Given the description of an element on the screen output the (x, y) to click on. 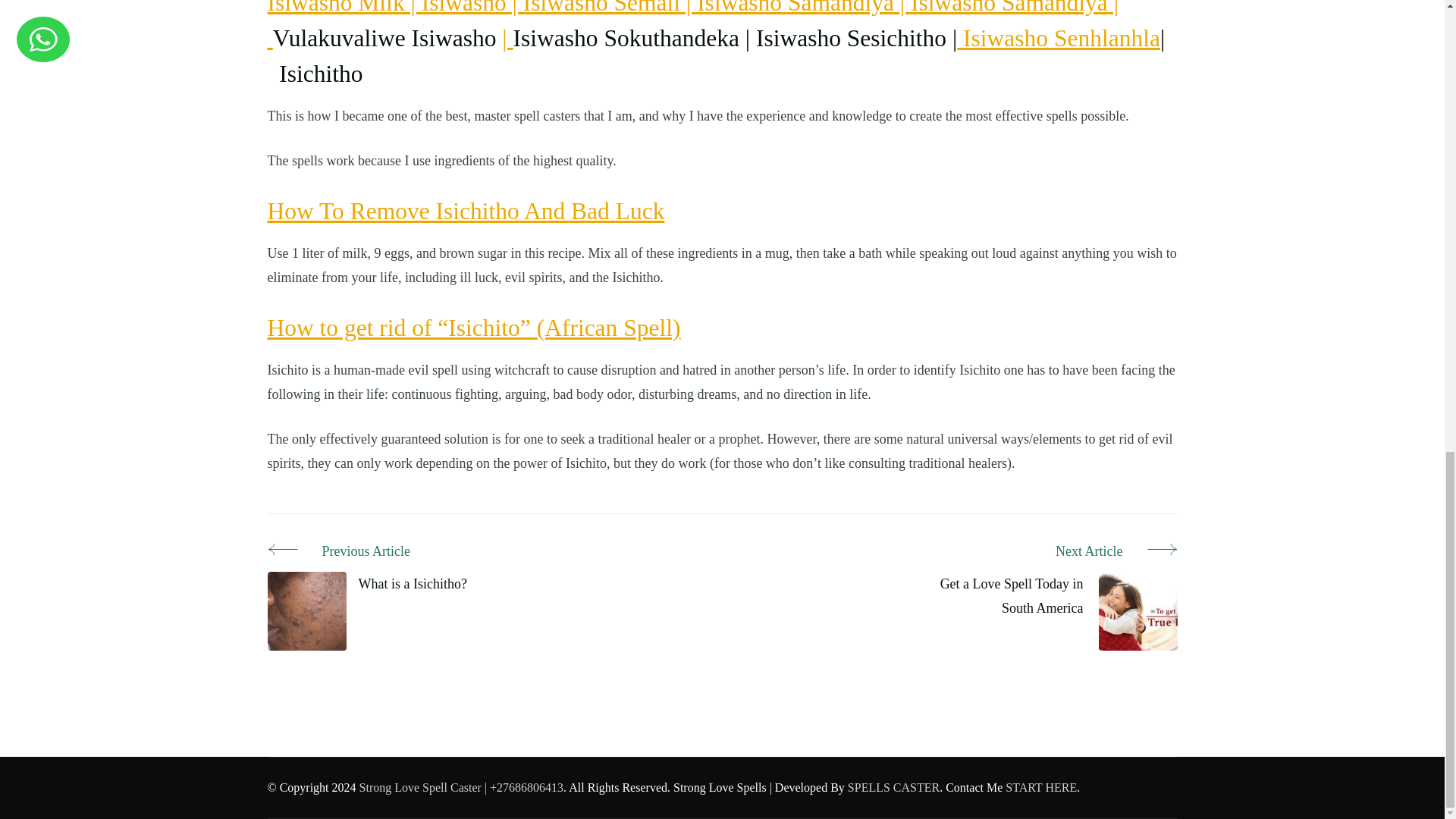
Previous Article (365, 551)
Next Article (1044, 551)
 Isiwasho Senhlanhla (1058, 38)
How To Remove Isichitho And Bad Luck (464, 211)
